Given the description of an element on the screen output the (x, y) to click on. 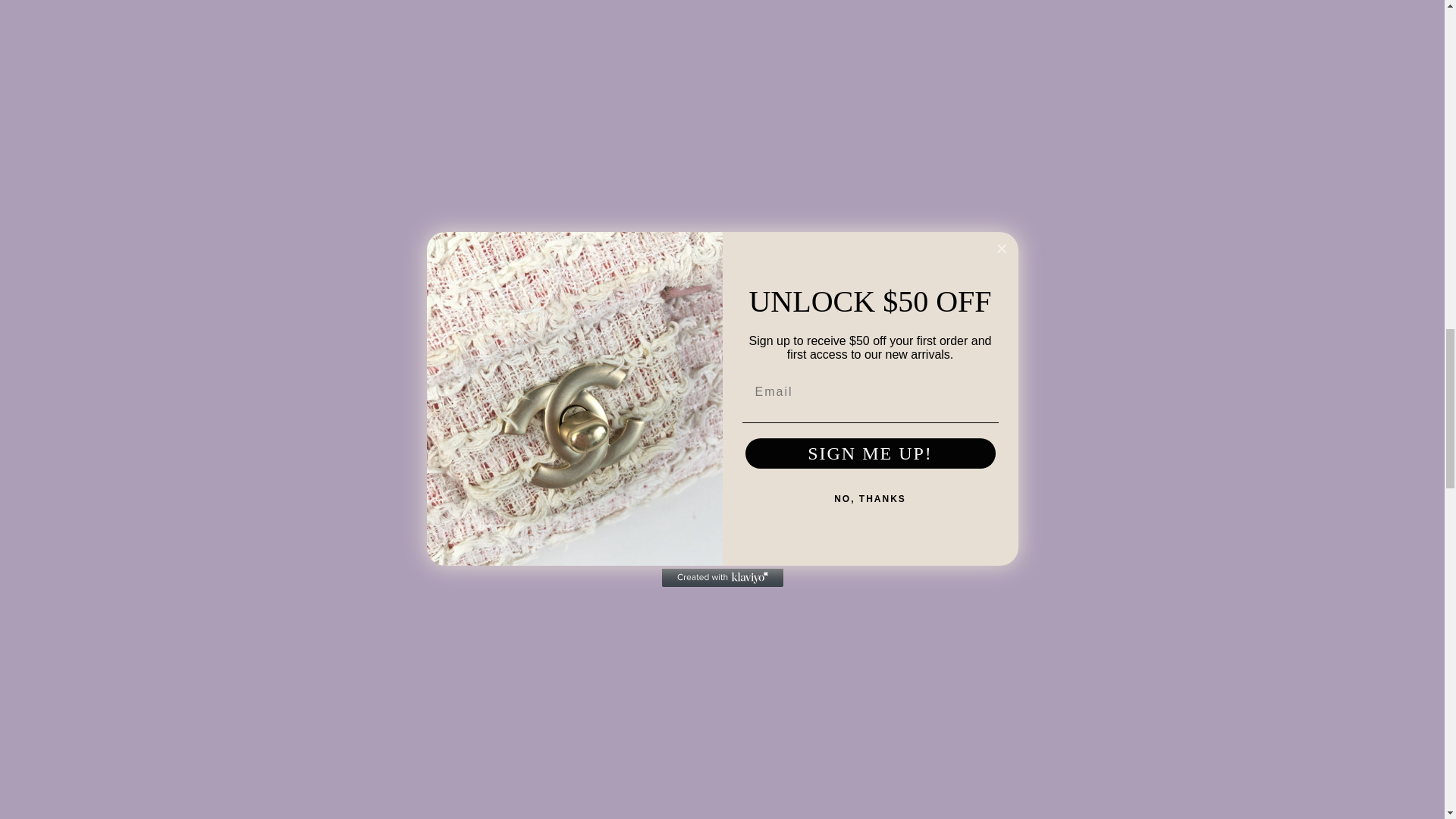
Handbag news (503, 813)
Guides (437, 813)
